Given the description of an element on the screen output the (x, y) to click on. 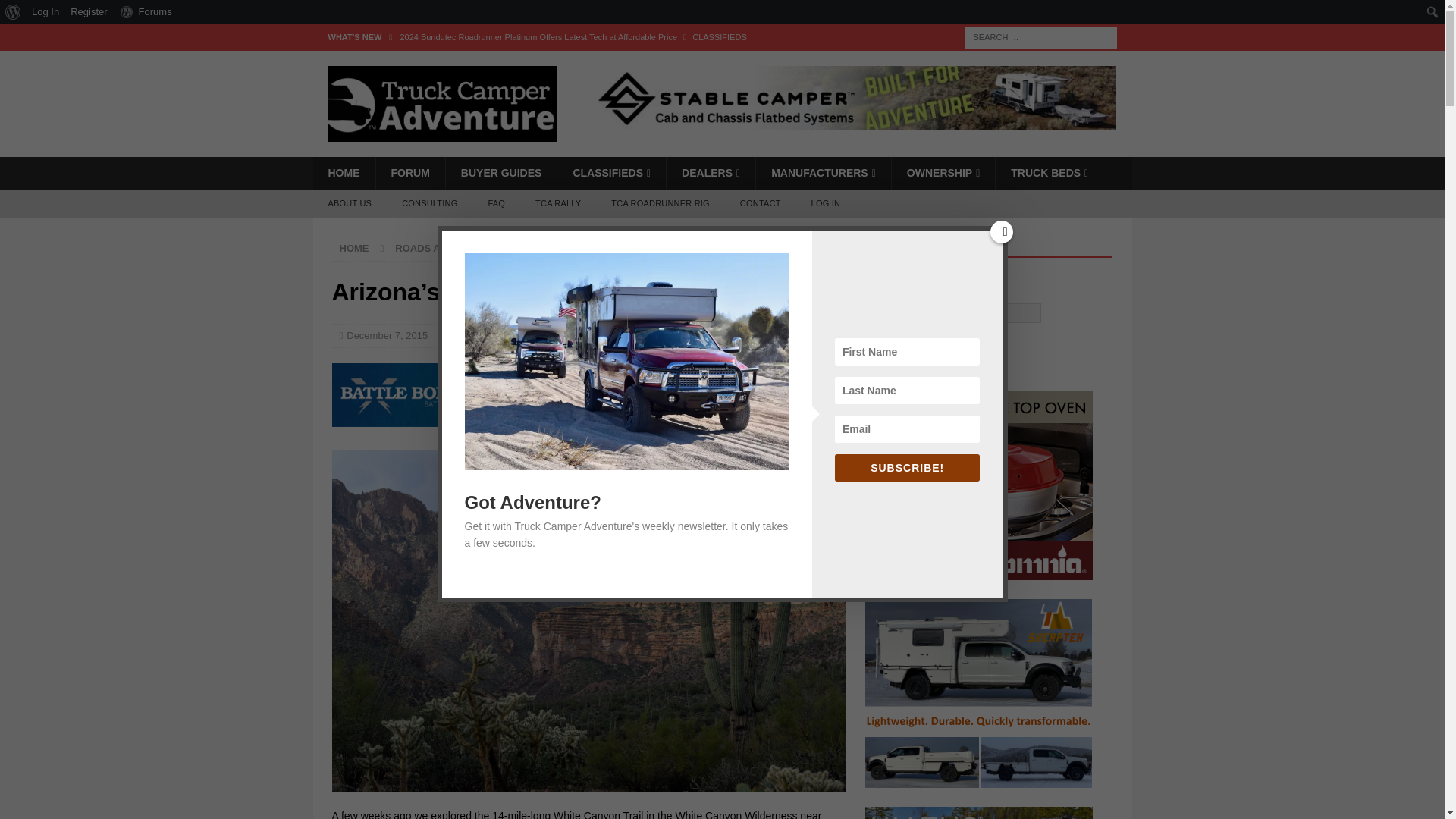
Subscribe! (937, 347)
Search (56, 11)
